Given the description of an element on the screen output the (x, y) to click on. 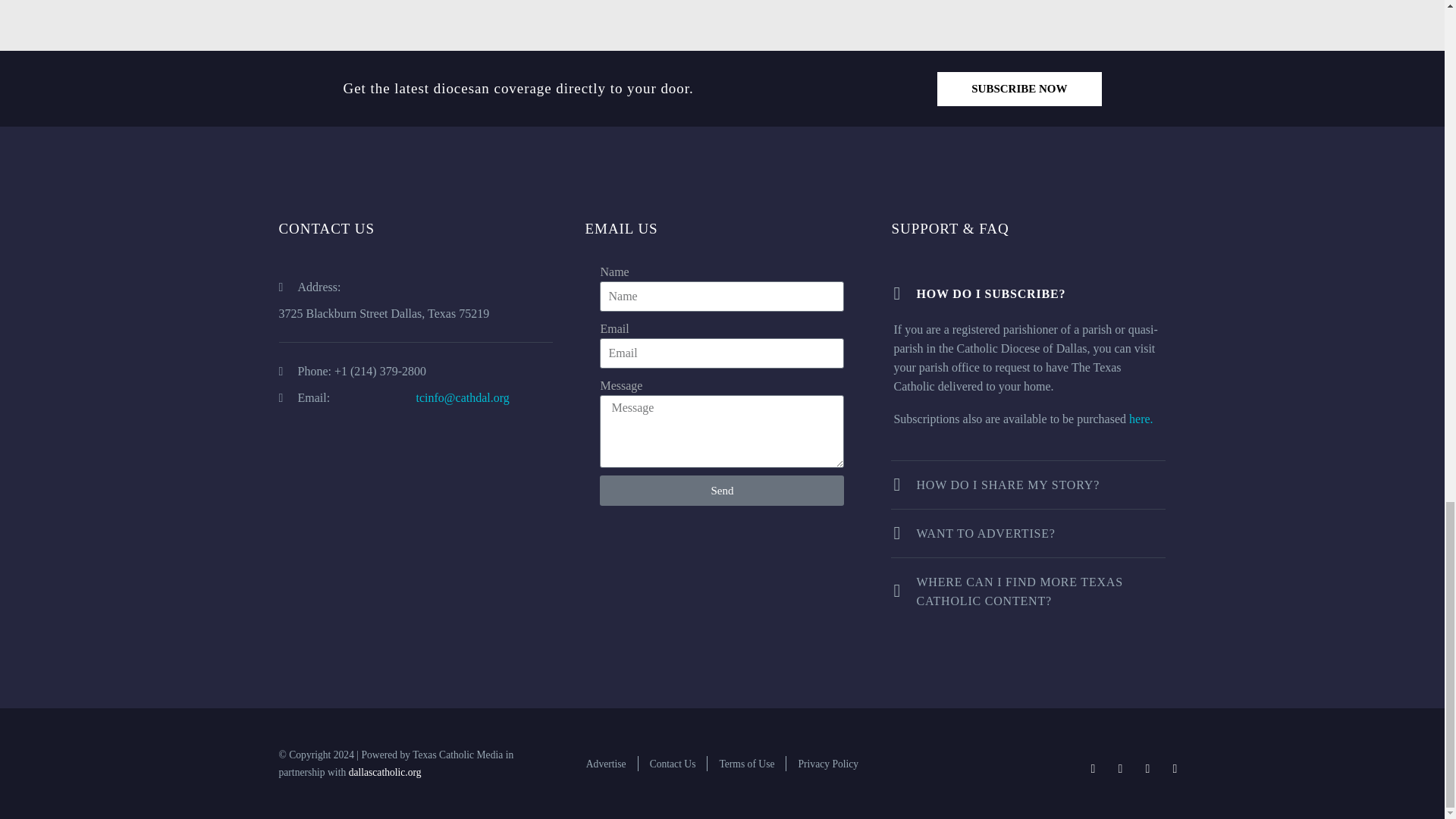
here. (1141, 418)
SUBSCRIBE NOW (1018, 89)
Email: (347, 397)
HOW DO I SHARE MY STORY? (1028, 484)
Send (721, 490)
HOW DO I SUBSCRIBE? (1028, 293)
